Given the description of an element on the screen output the (x, y) to click on. 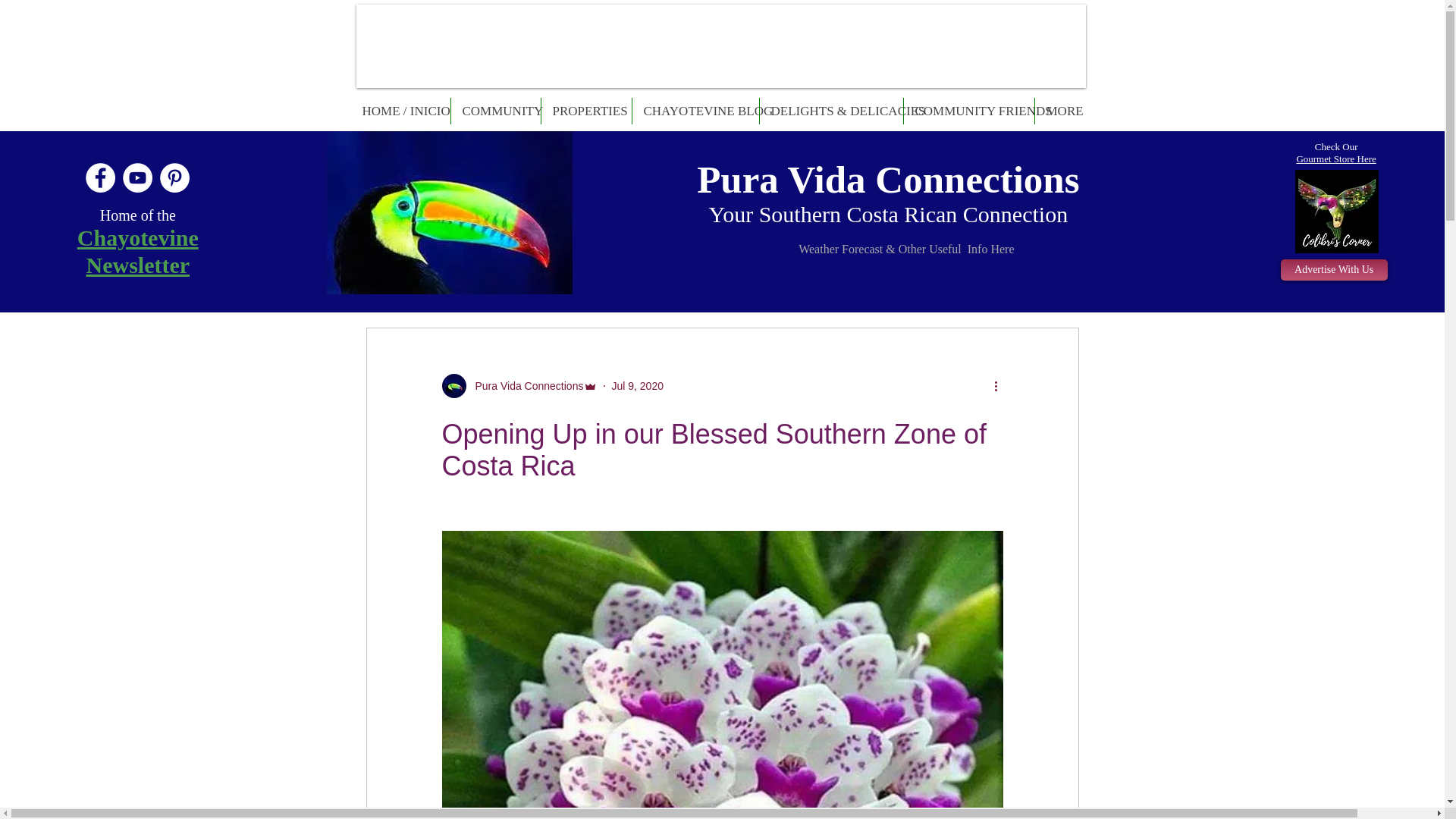
CHAYOTEVINE BLOG (694, 110)
Pura Vida Connections (449, 212)
PROPERTIES (586, 110)
Chayotevine Newsletter (137, 251)
COMMUNITY (494, 110)
Pura Vida Connections (524, 385)
COMMUNITY FRIENDS (968, 110)
Gourmet Store Here (1335, 158)
Jul 9, 2020 (637, 385)
Check Our (1336, 146)
Pura Vida Connections (887, 179)
Your Southern Costa Rican Connection (888, 213)
